Given the description of an element on the screen output the (x, y) to click on. 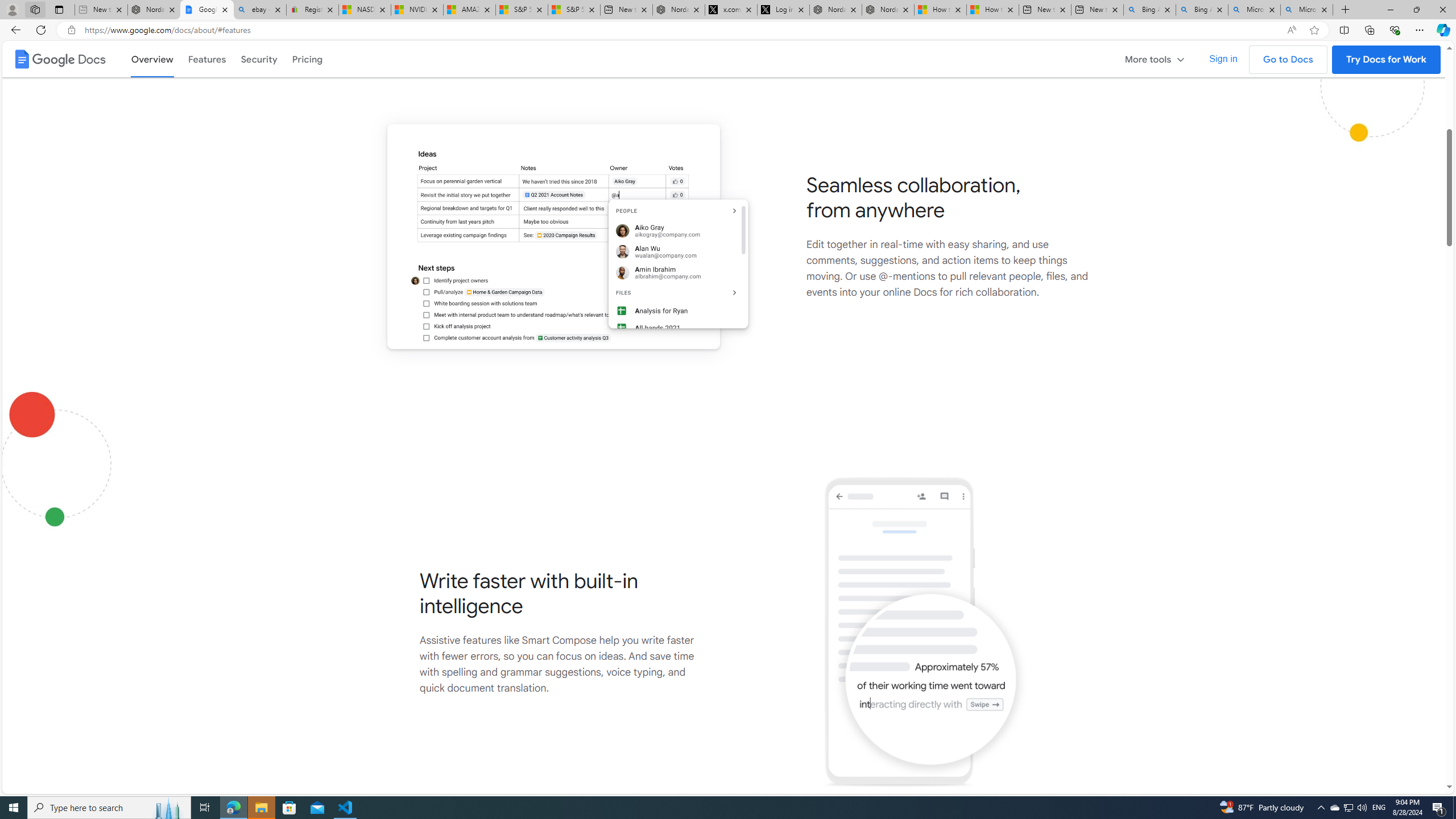
x.com/NordaceOfficial (730, 9)
Register: Create a personal eBay account (312, 9)
Docs Supercharge Teamwork (562, 236)
Bing AI - Search (1201, 9)
